Given the description of an element on the screen output the (x, y) to click on. 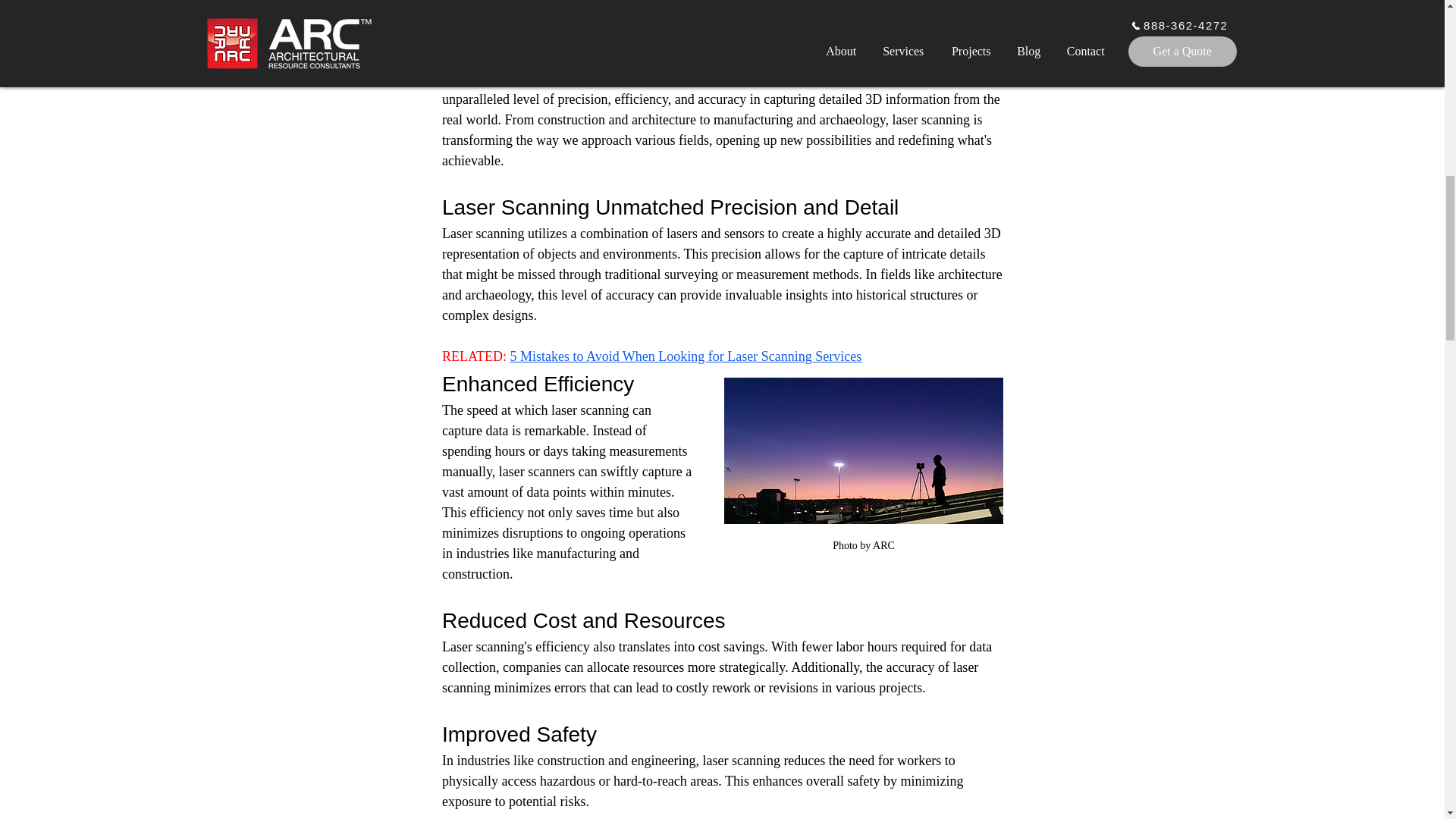
5 Mistakes to Avoid When Looking for Laser Scanning Services (685, 355)
